Given the description of an element on the screen output the (x, y) to click on. 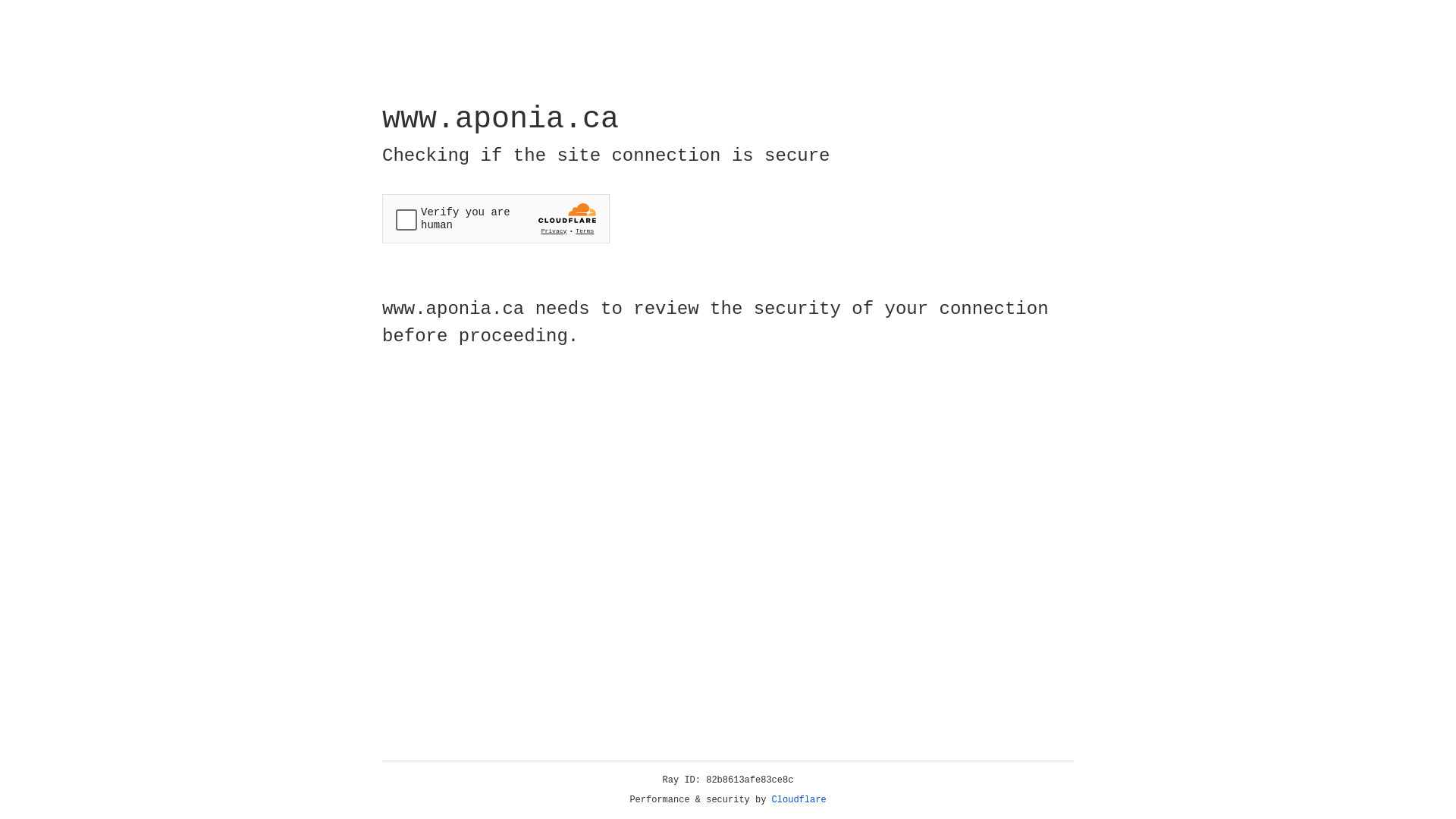
Cloudflare Element type: text (798, 799)
Widget containing a Cloudflare security challenge Element type: hover (495, 218)
